Given the description of an element on the screen output the (x, y) to click on. 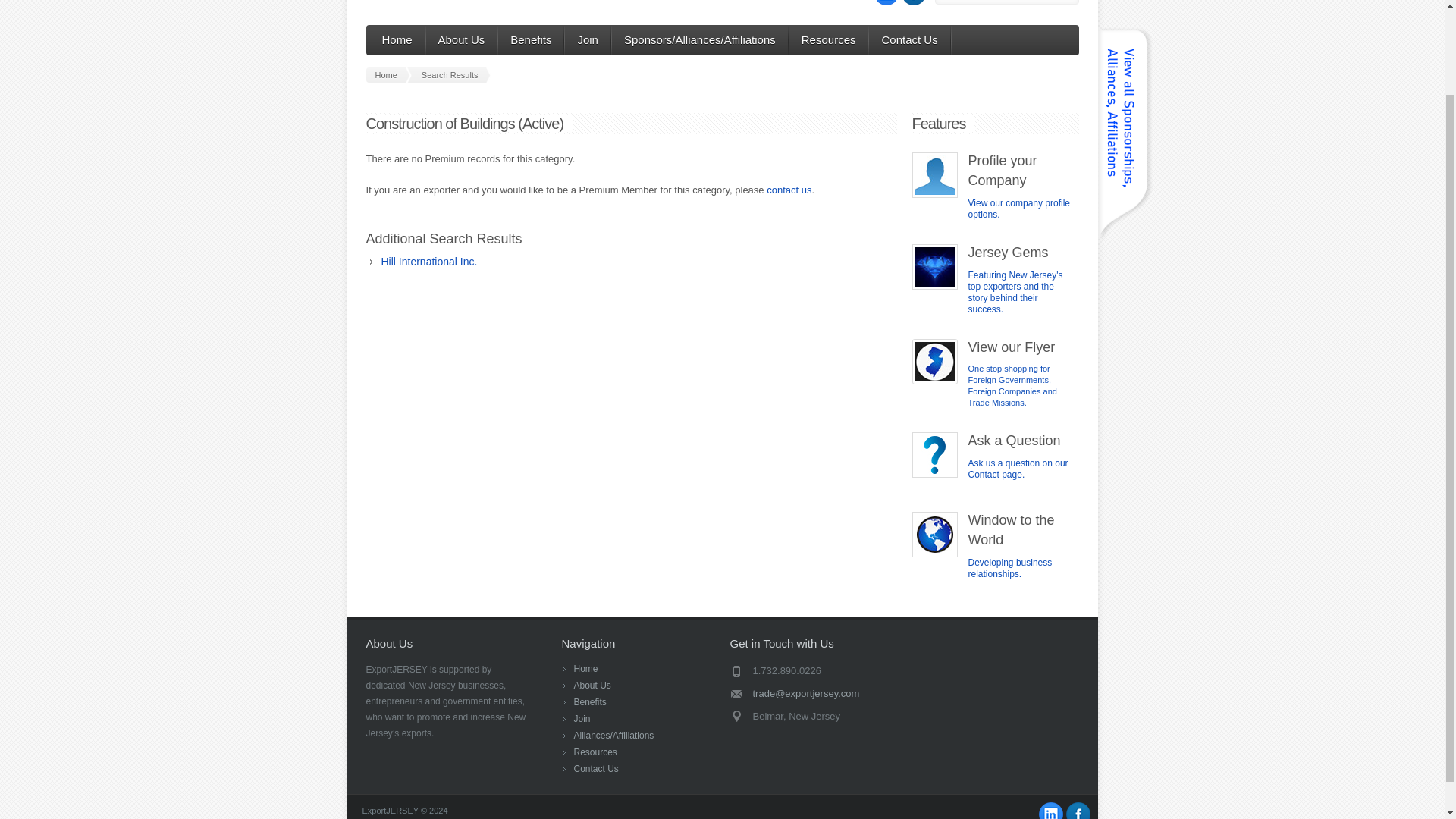
Hill International Inc. (428, 261)
Join (581, 718)
Home (397, 40)
Phone (812, 670)
View our company profile options. (1019, 209)
Home (584, 668)
Benefits (530, 40)
Enter Product Keyword (1006, 2)
Home (388, 74)
Benefits (589, 701)
About Us (461, 40)
Join (587, 40)
Email (812, 693)
Ask us a question on our Contact page. (1017, 468)
